Given the description of an element on the screen output the (x, y) to click on. 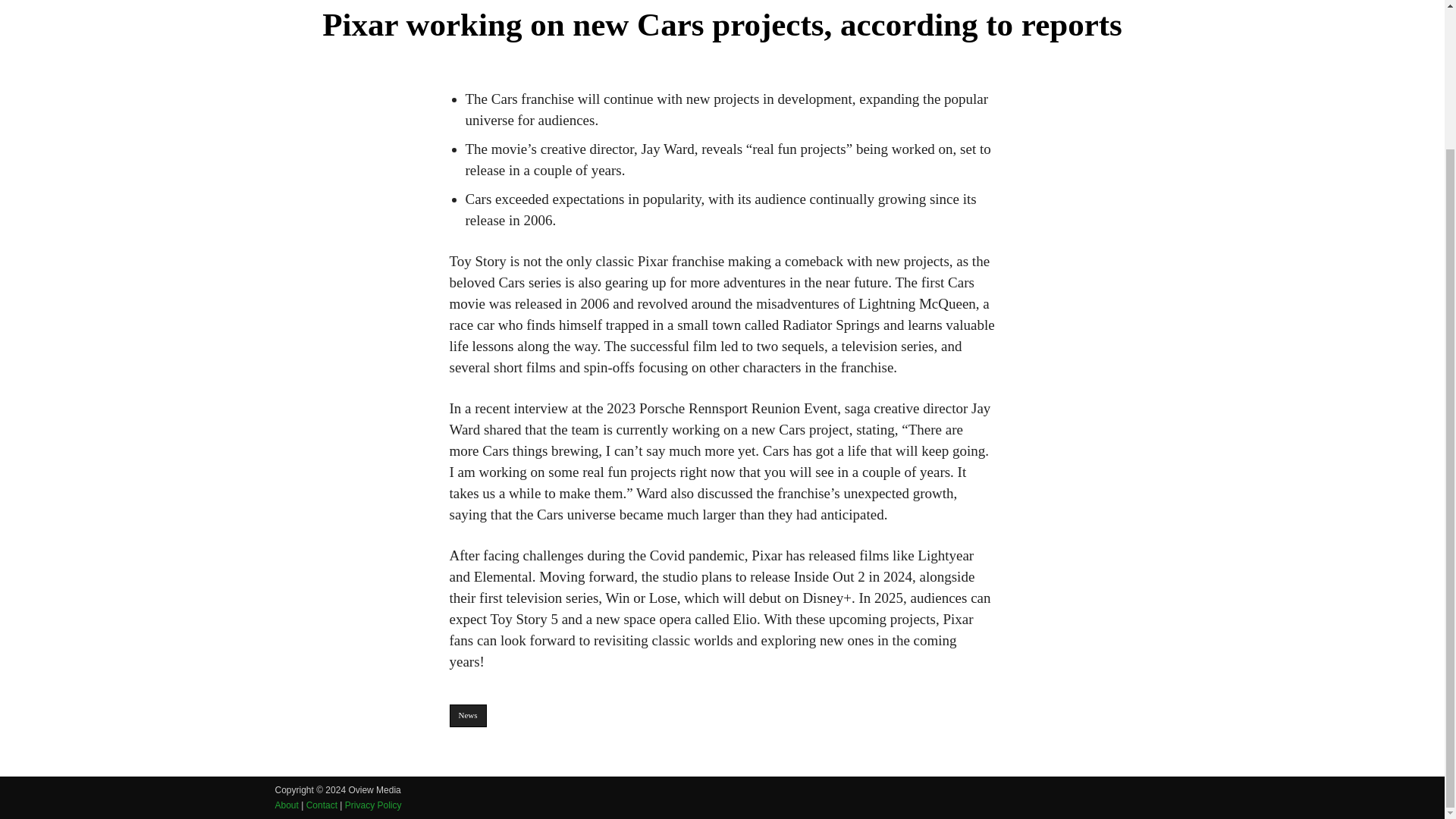
Privacy Policy (373, 805)
News (467, 715)
Contact (321, 805)
About (286, 805)
